Given the description of an element on the screen output the (x, y) to click on. 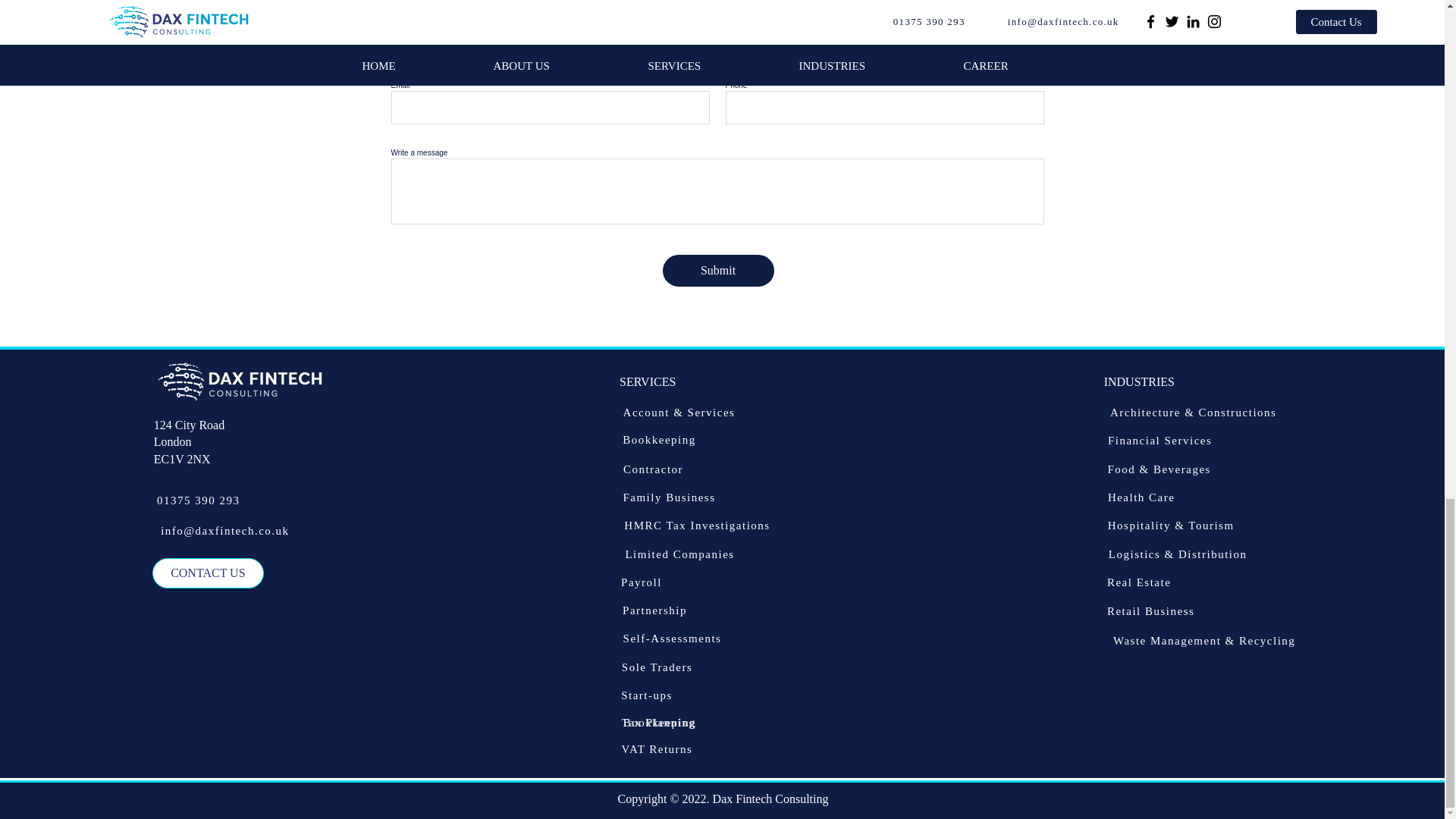
Self-Assessments (671, 638)
Submit (718, 270)
Family Business (668, 497)
HMRC Tax Investigations (697, 525)
Contractor (652, 469)
Limited Companies (679, 554)
Partnership (654, 610)
VAT Returns (657, 749)
Start-ups (646, 695)
CONTACT US (207, 572)
Tax Planning (658, 722)
01375 390 293 (198, 500)
Payroll (641, 582)
Sole Traders (656, 667)
